Given the description of an element on the screen output the (x, y) to click on. 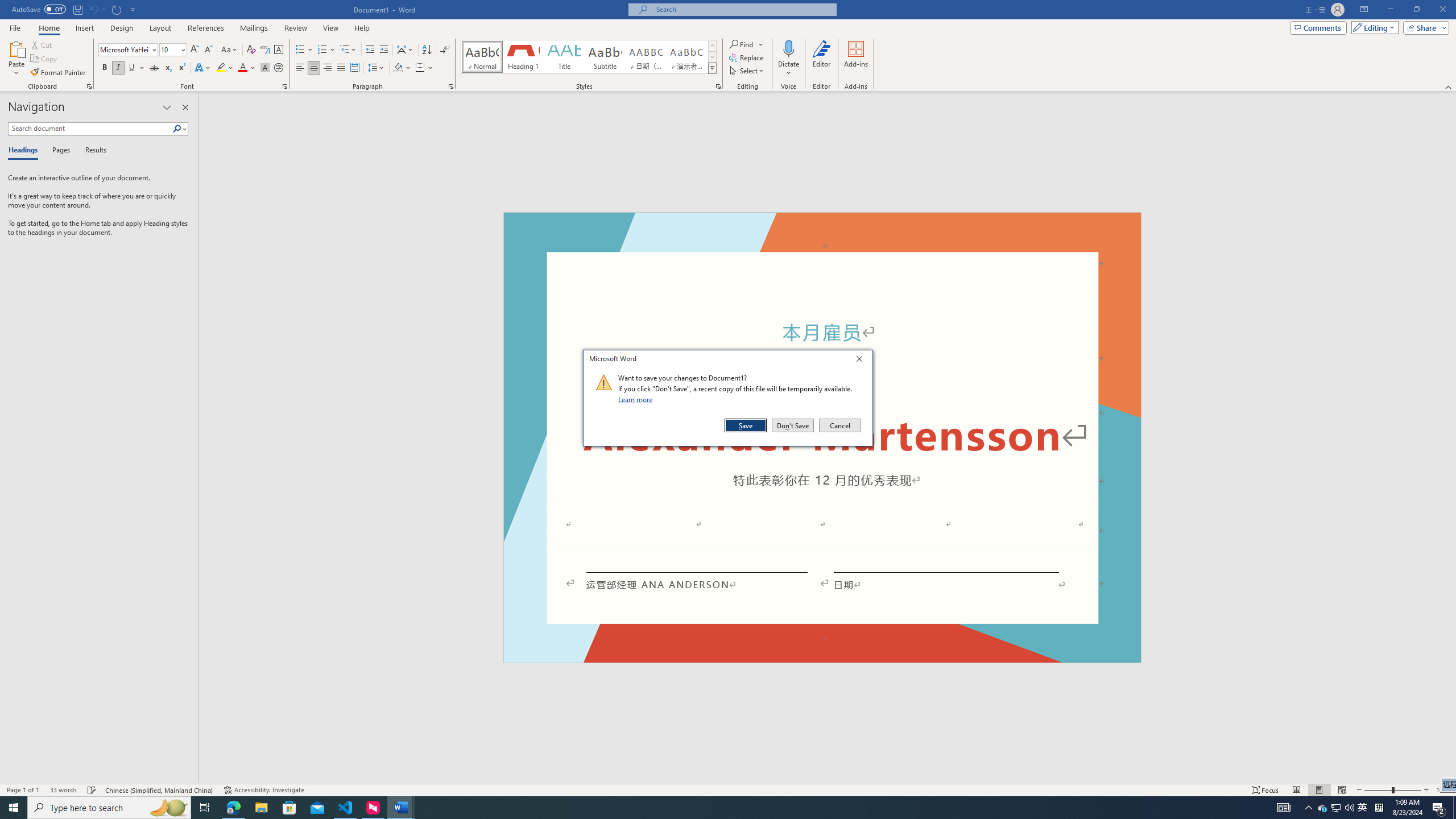
Running applications (700, 807)
File Explorer (261, 807)
